Given the description of an element on the screen output the (x, y) to click on. 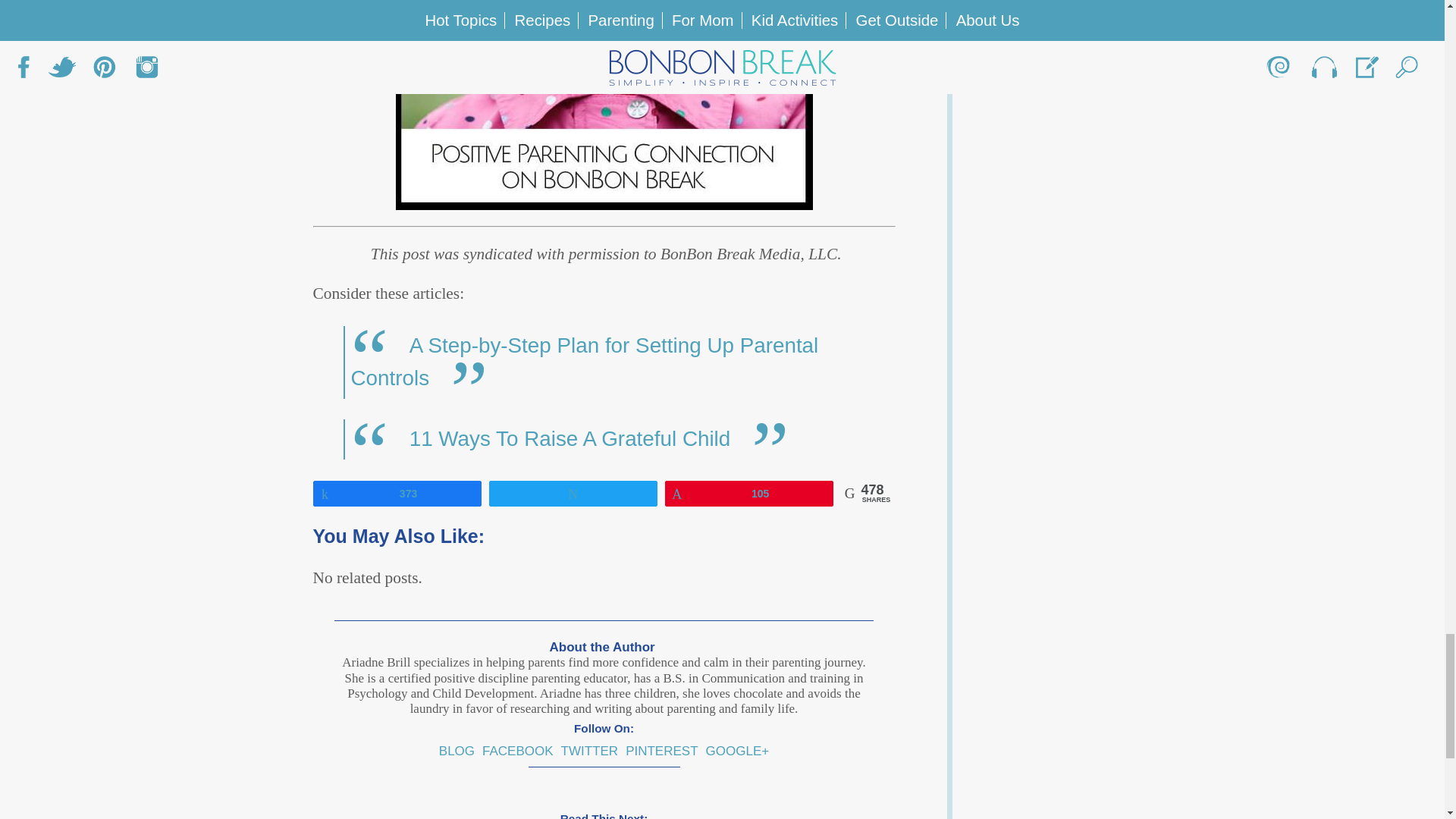
11 Ways To Raise A Grateful Child (569, 438)
105 (748, 492)
PINTEREST (661, 750)
373 (397, 492)
FACEBOOK (517, 750)
TWITTER (589, 750)
A Step-by-Step Plan for Setting Up Parental Controls (584, 361)
BLOG (456, 750)
